Given the description of an element on the screen output the (x, y) to click on. 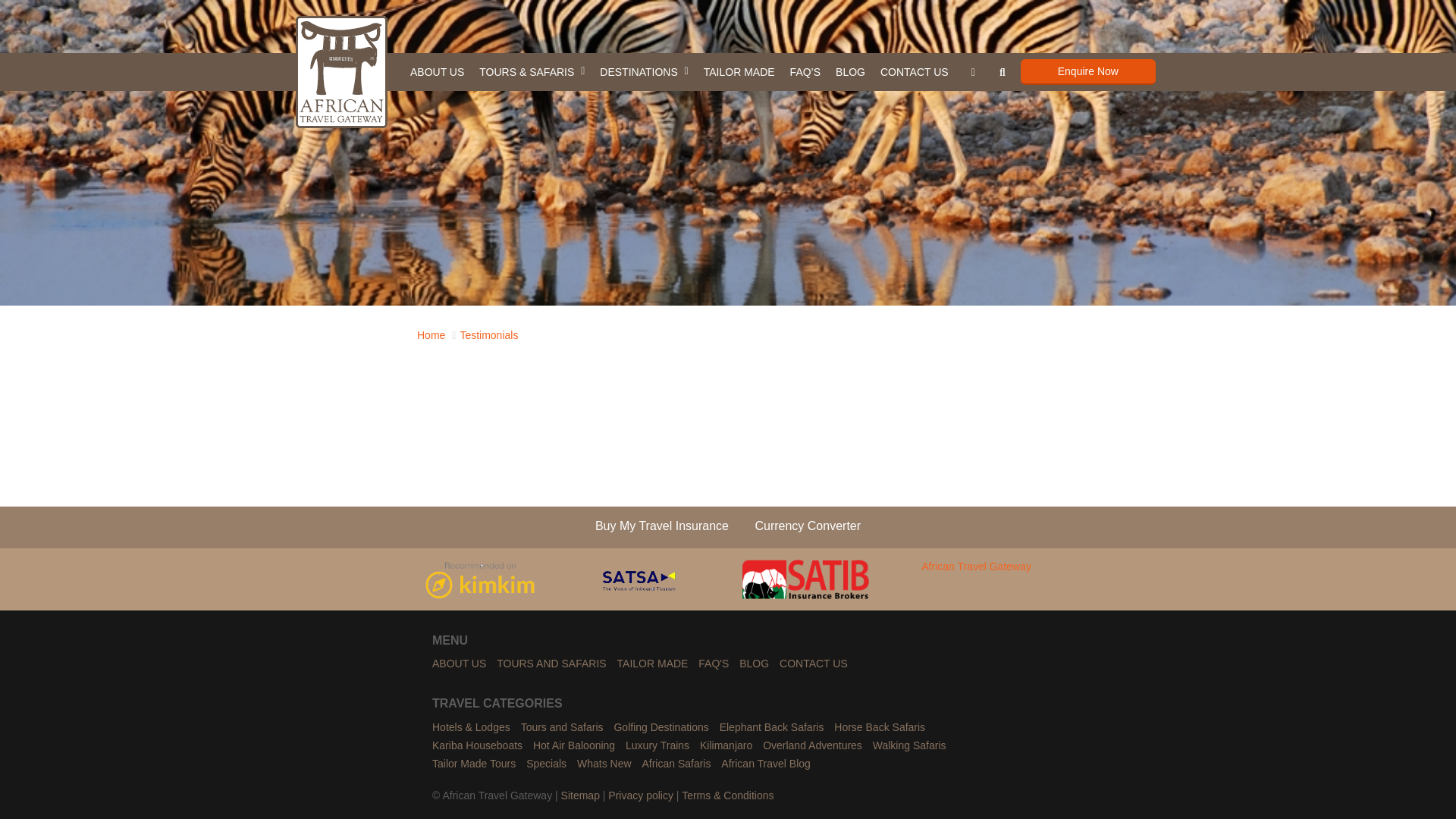
TAILOR MADE (739, 71)
ABOUT US (437, 71)
CONTACT US (914, 71)
Whats New (603, 764)
DESTINATIONS (643, 71)
Specials (545, 764)
African Safaris (676, 764)
Enquire Now (1088, 71)
African Travel Gateway (342, 71)
African Travel Gateway (975, 578)
